Given the description of an element on the screen output the (x, y) to click on. 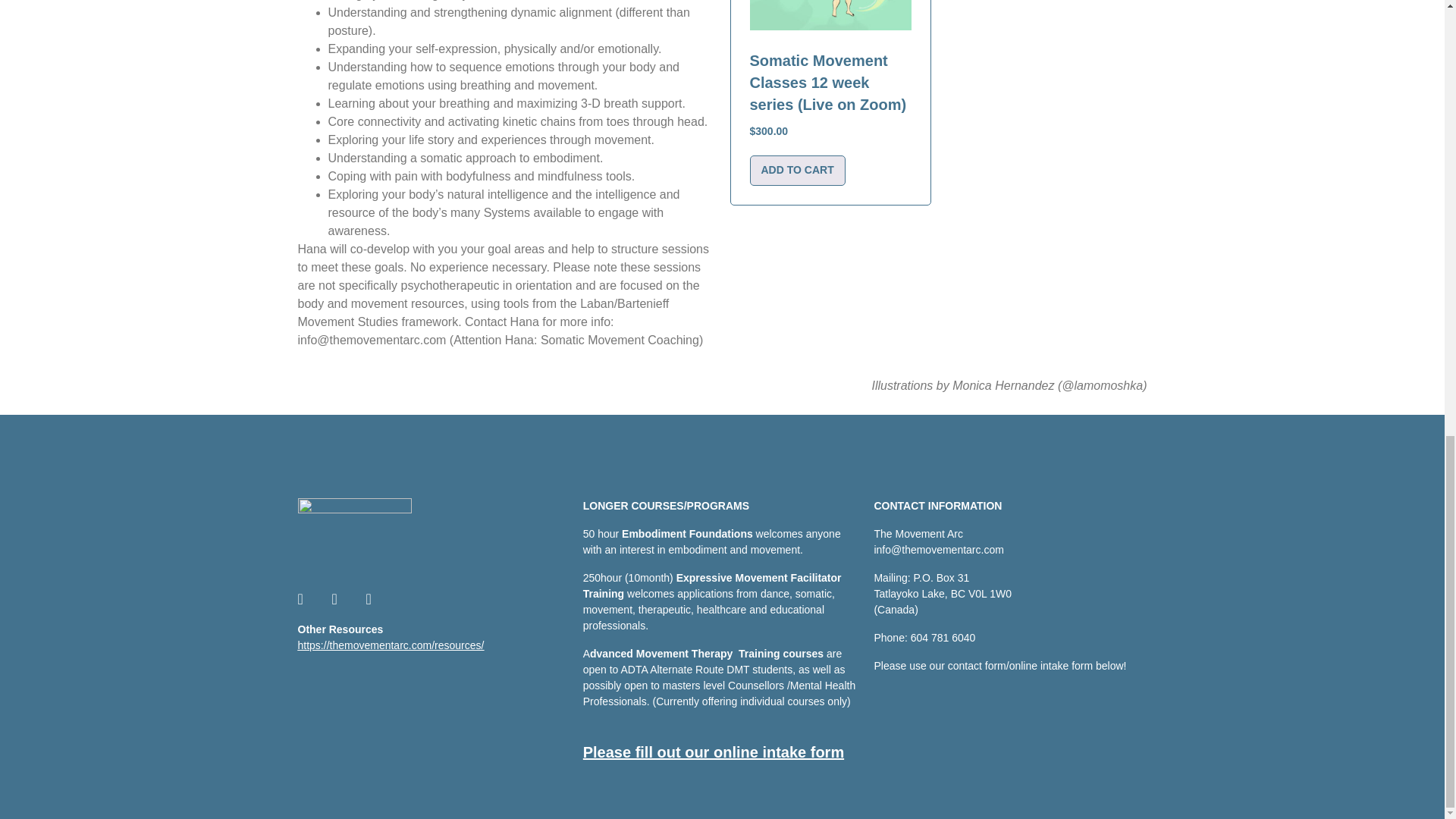
ADD TO CART (796, 170)
Please fill out our online intake form (713, 751)
